Given the description of an element on the screen output the (x, y) to click on. 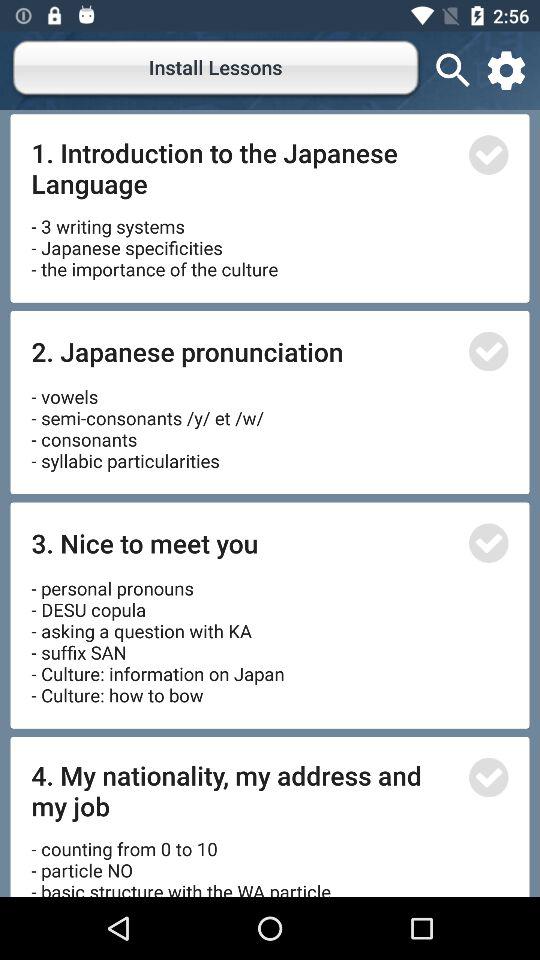
search (453, 70)
